Given the description of an element on the screen output the (x, y) to click on. 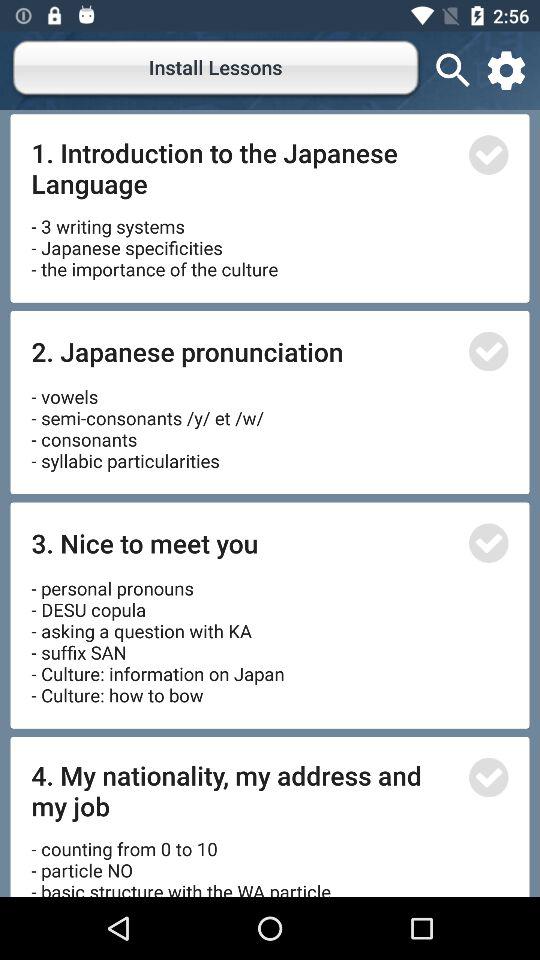
search (453, 70)
